Given the description of an element on the screen output the (x, y) to click on. 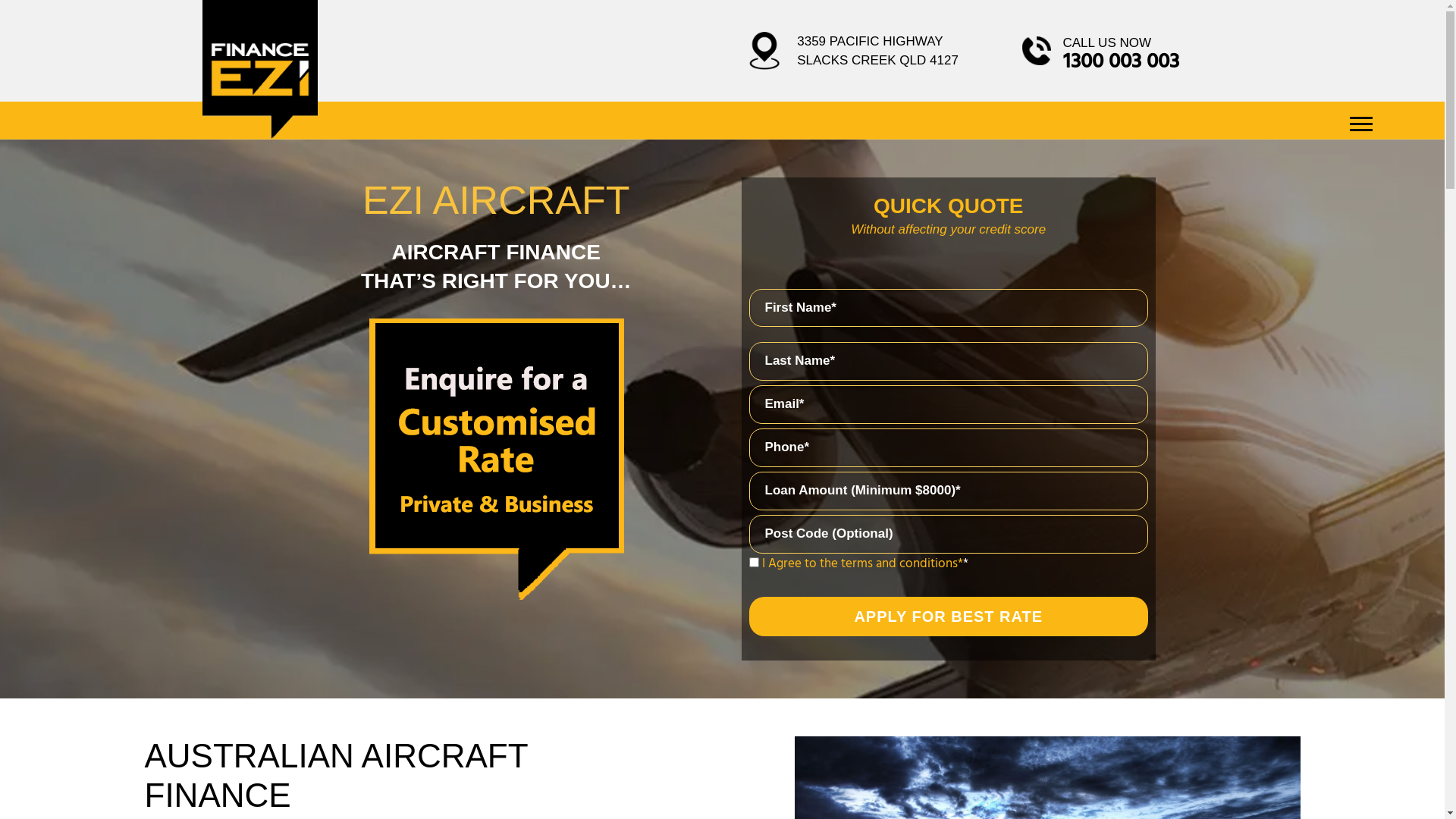
I Agree to the terms and conditions* Element type: text (861, 563)
Apply For Best Rate Element type: text (948, 616)
Aircraft Rate Element type: hover (496, 470)
1300 003 003 Element type: text (1121, 61)
3359 PACIFIC HIGHWAY Element type: text (869, 41)
SLACKS CREEK QLD 4127 Element type: text (877, 60)
CALL US NOW Element type: text (1107, 42)
fe-logo Element type: hover (259, 69)
